Given the description of an element on the screen output the (x, y) to click on. 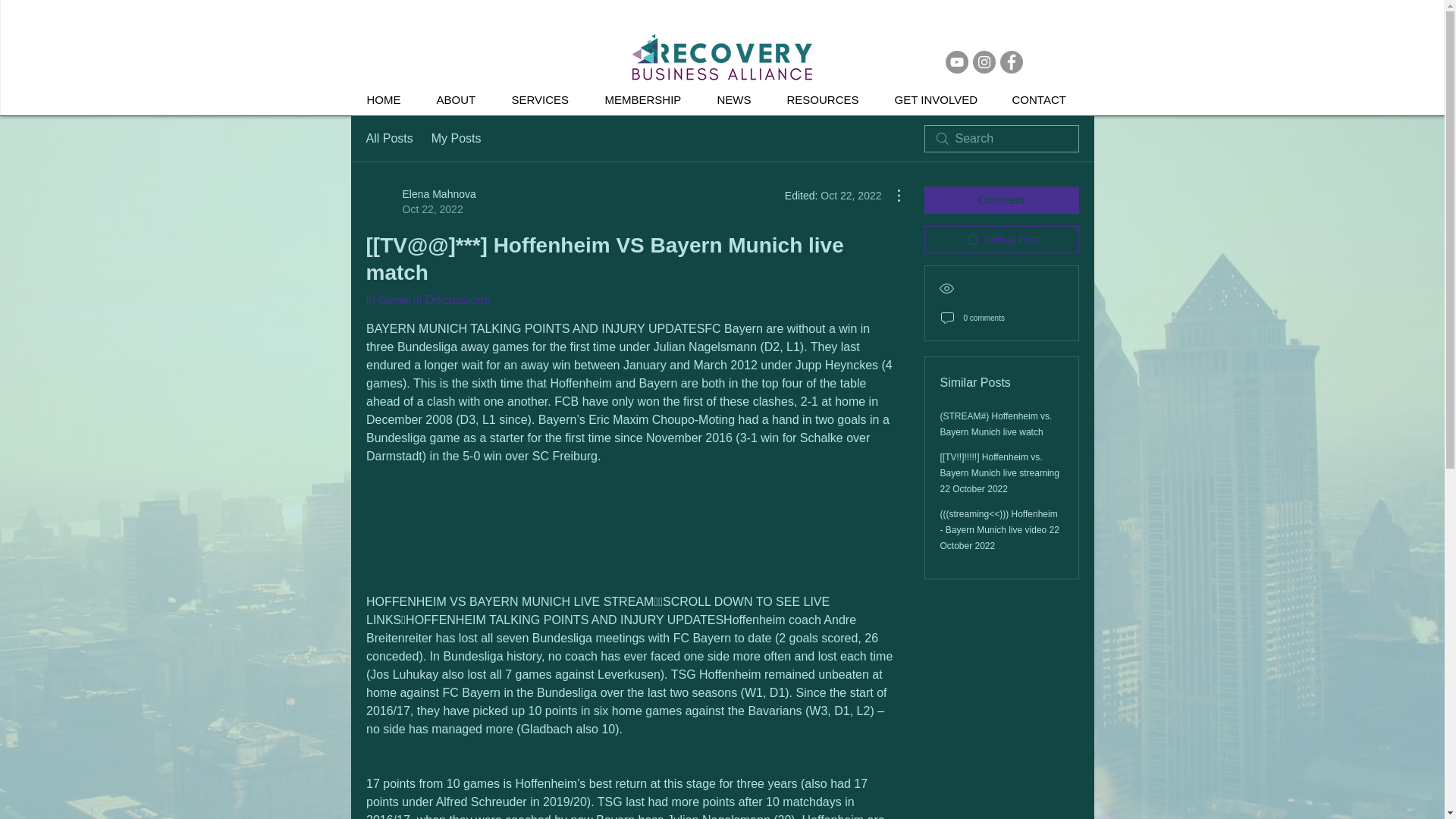
All Posts (388, 138)
Follow Post (1000, 239)
Comment (1000, 199)
HOME (390, 99)
My Posts (455, 138)
CONTACT (1045, 99)
NEWS (420, 201)
in General Discussions (739, 99)
ABOUT (427, 299)
